Given the description of an element on the screen output the (x, y) to click on. 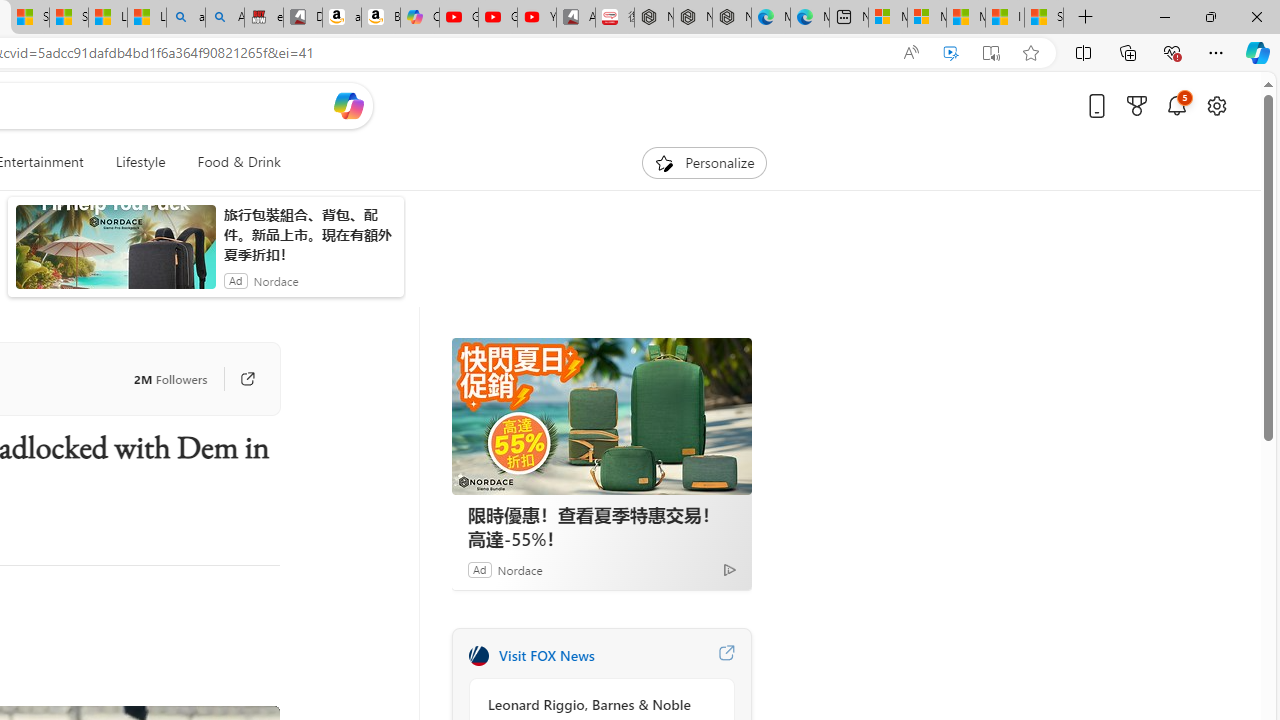
I Gained 20 Pounds of Muscle in 30 Days! | Watch (1004, 17)
Nordace - Nordace has arrived Hong Kong (732, 17)
amazon.in/dp/B0CX59H5W7/?tag=gsmcom05-21 (341, 17)
Lifestyle (139, 162)
Microsoft account | Privacy (926, 17)
Amazon Echo Dot PNG - Search Images (225, 17)
Microsoft rewards (1137, 105)
